Given the description of an element on the screen output the (x, y) to click on. 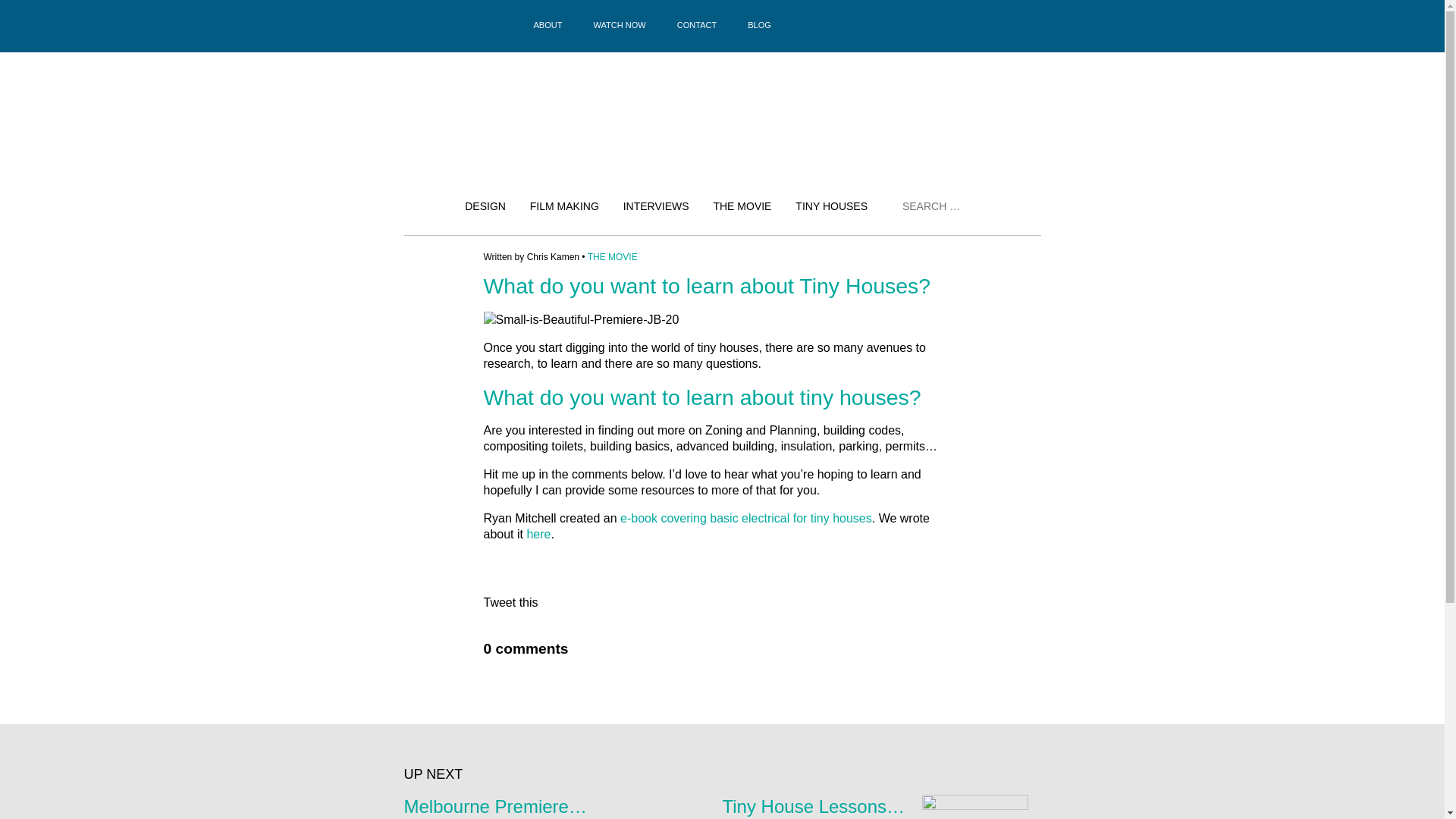
BLOG (759, 24)
DESIGN (484, 205)
here (537, 533)
Tiny House Lessons From the Snowpocalypse of 2013 (941, 806)
ABOUT (548, 24)
INTERVIEWS (655, 205)
THE MOVIE (612, 256)
CONTACT (697, 24)
Tweet this (510, 602)
THE MOVIE (742, 205)
e-book covering basic electrical for tiny houses (746, 517)
Melbourne Premiere - Small is Beautiful (563, 806)
FILM MAKING (563, 205)
TINY HOUSES (830, 205)
WATCH NOW (620, 24)
